Given the description of an element on the screen output the (x, y) to click on. 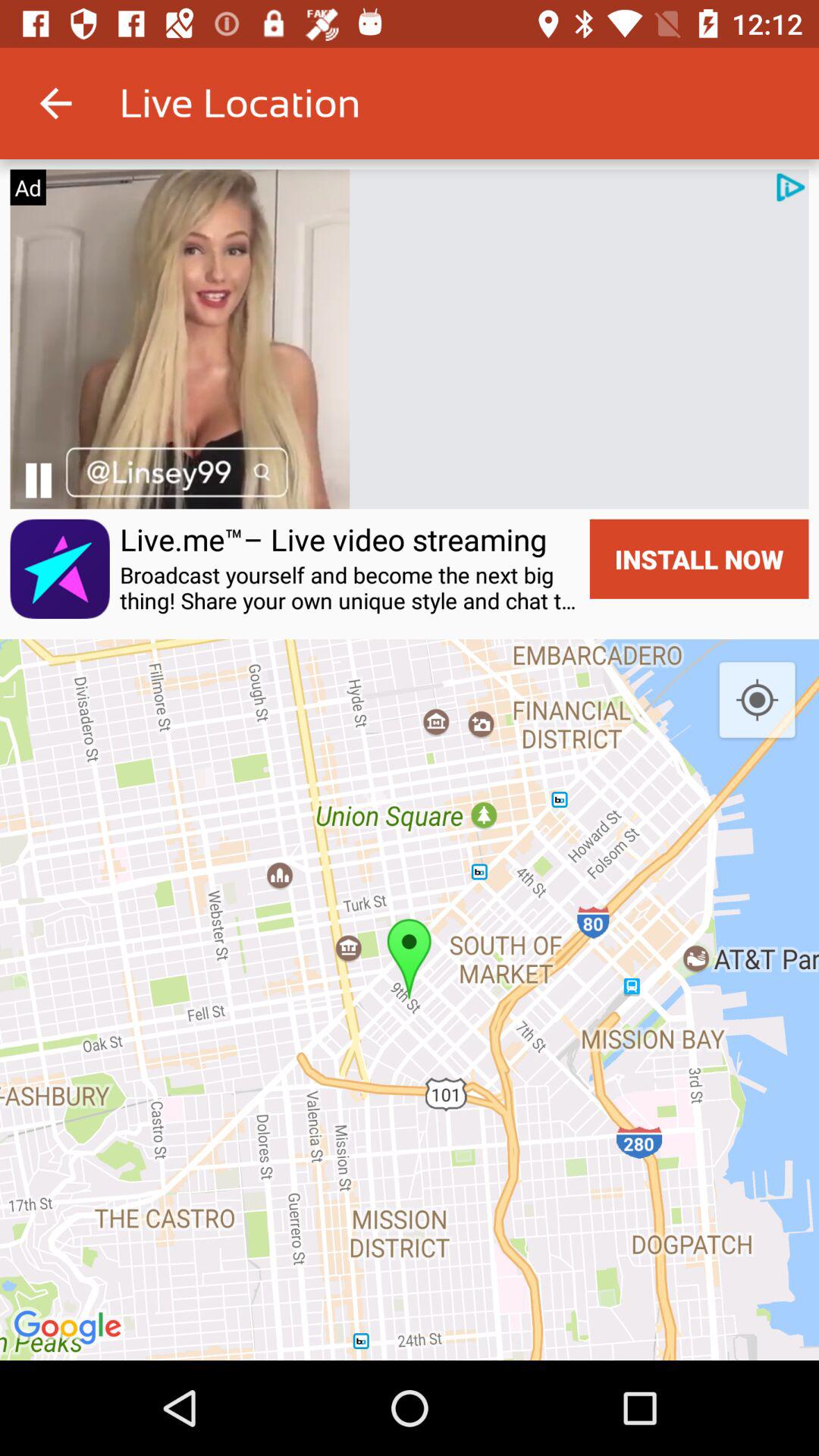
choose ad item (27, 187)
